Given the description of an element on the screen output the (x, y) to click on. 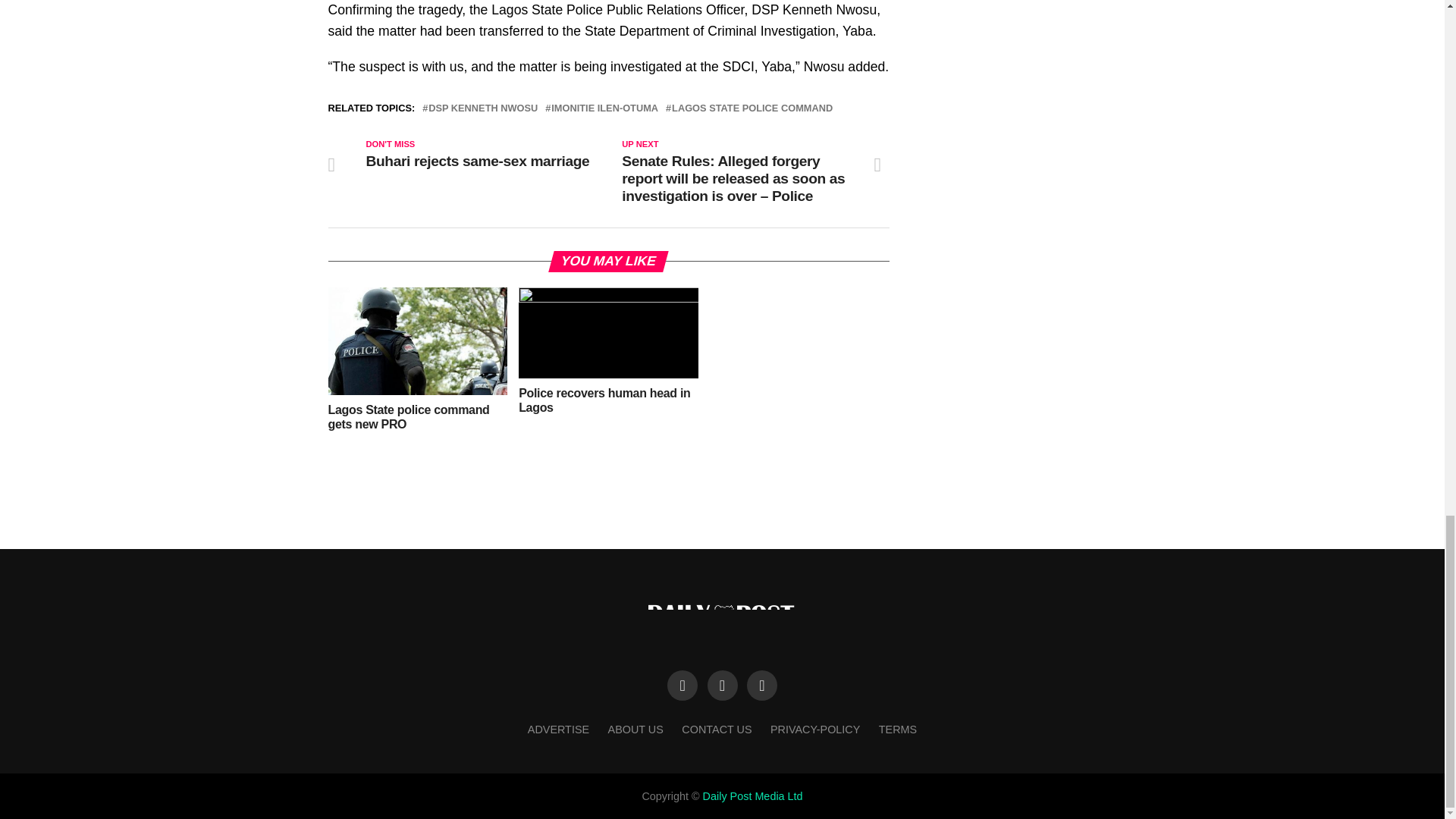
LAGOS STATE POLICE COMMAND (751, 108)
PRIVACY-POLICY (815, 729)
DSP KENNETH NWOSU (482, 108)
CONTACT US (716, 729)
IMONITIE ILEN-OTUMA (604, 108)
ADVERTISE (558, 729)
ABOUT US (635, 729)
